Given the description of an element on the screen output the (x, y) to click on. 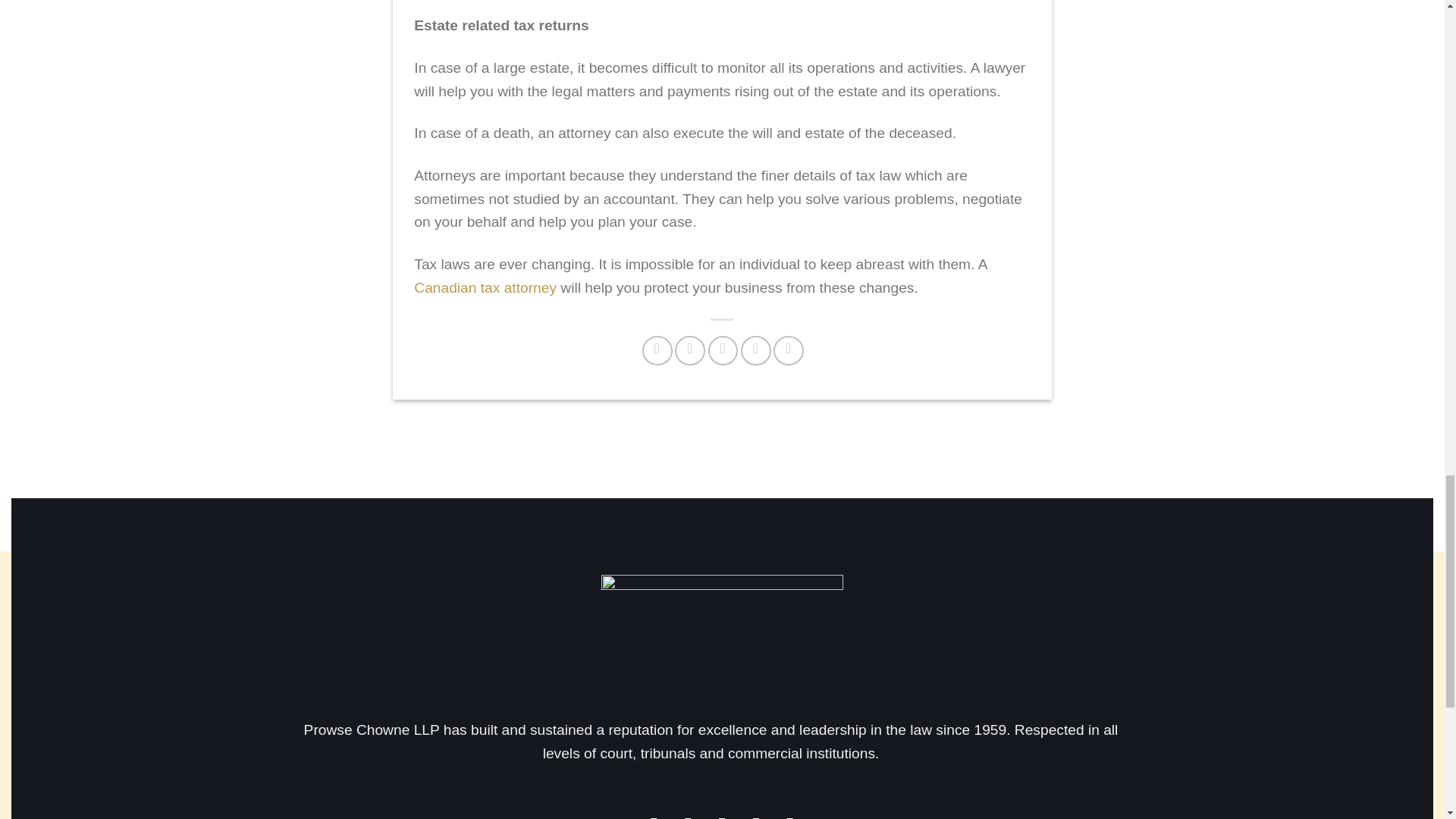
Share on Twitter (689, 350)
Follow on Twitter (722, 816)
Share on Facebook (657, 350)
Follow on LinkedIn (790, 816)
Pin on Pinterest (756, 350)
Follow on Facebook (654, 816)
Follow on Instagram (688, 816)
Follow on Pinterest (755, 816)
Share on LinkedIn (788, 350)
Email to a Friend (722, 350)
